Given the description of an element on the screen output the (x, y) to click on. 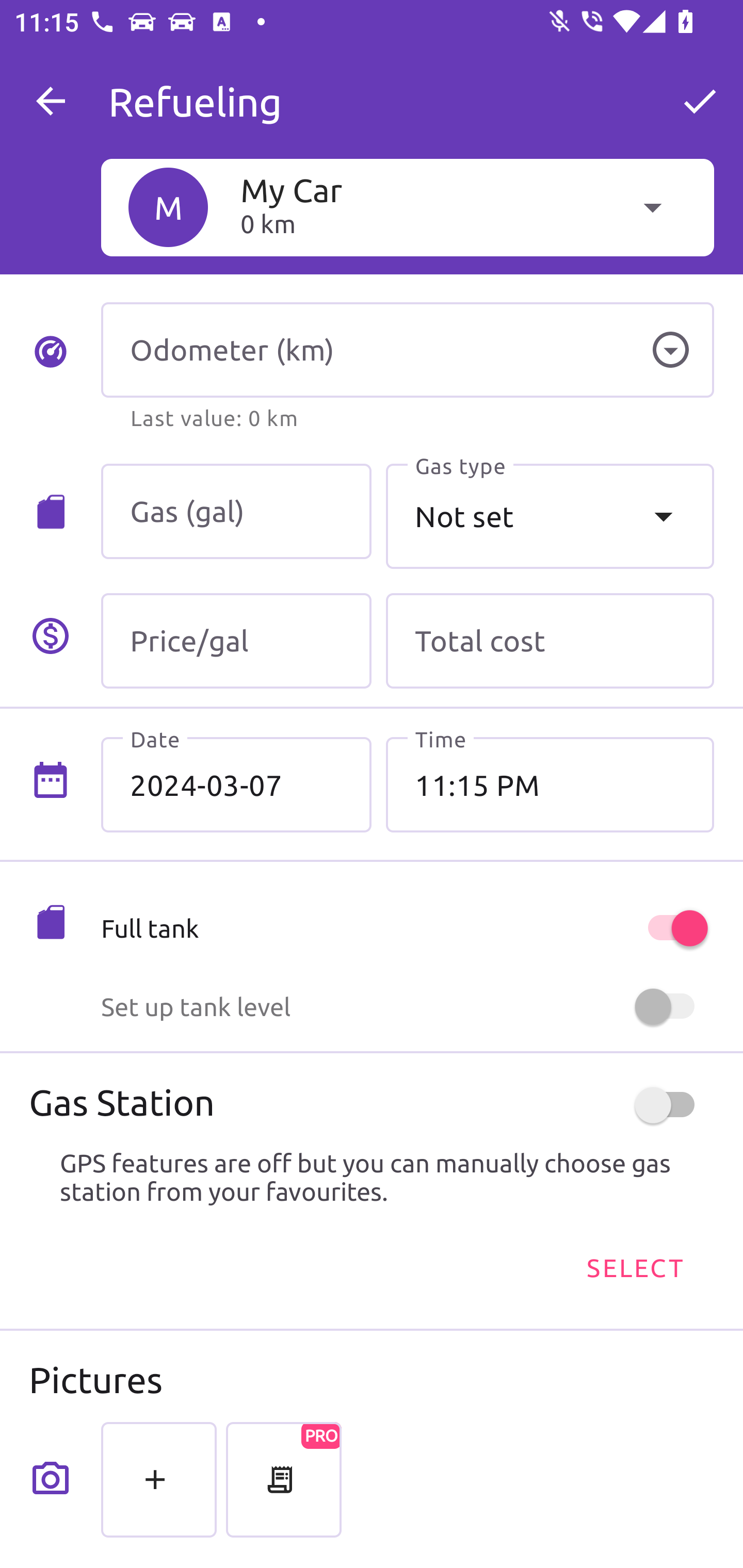
Navigate up (50, 101)
OK (699, 101)
M My Car 0 km (407, 206)
Odometer (km) (407, 350)
Odometer (670, 349)
Gas (gal) (236, 511)
Not set (549, 516)
Price/gal (236, 640)
Total cost  (549, 640)
2024-03-07 (236, 784)
11:15 PM (549, 784)
Full tank (407, 928)
Set up tank level (407, 1006)
SELECT (634, 1267)
